Given the description of an element on the screen output the (x, y) to click on. 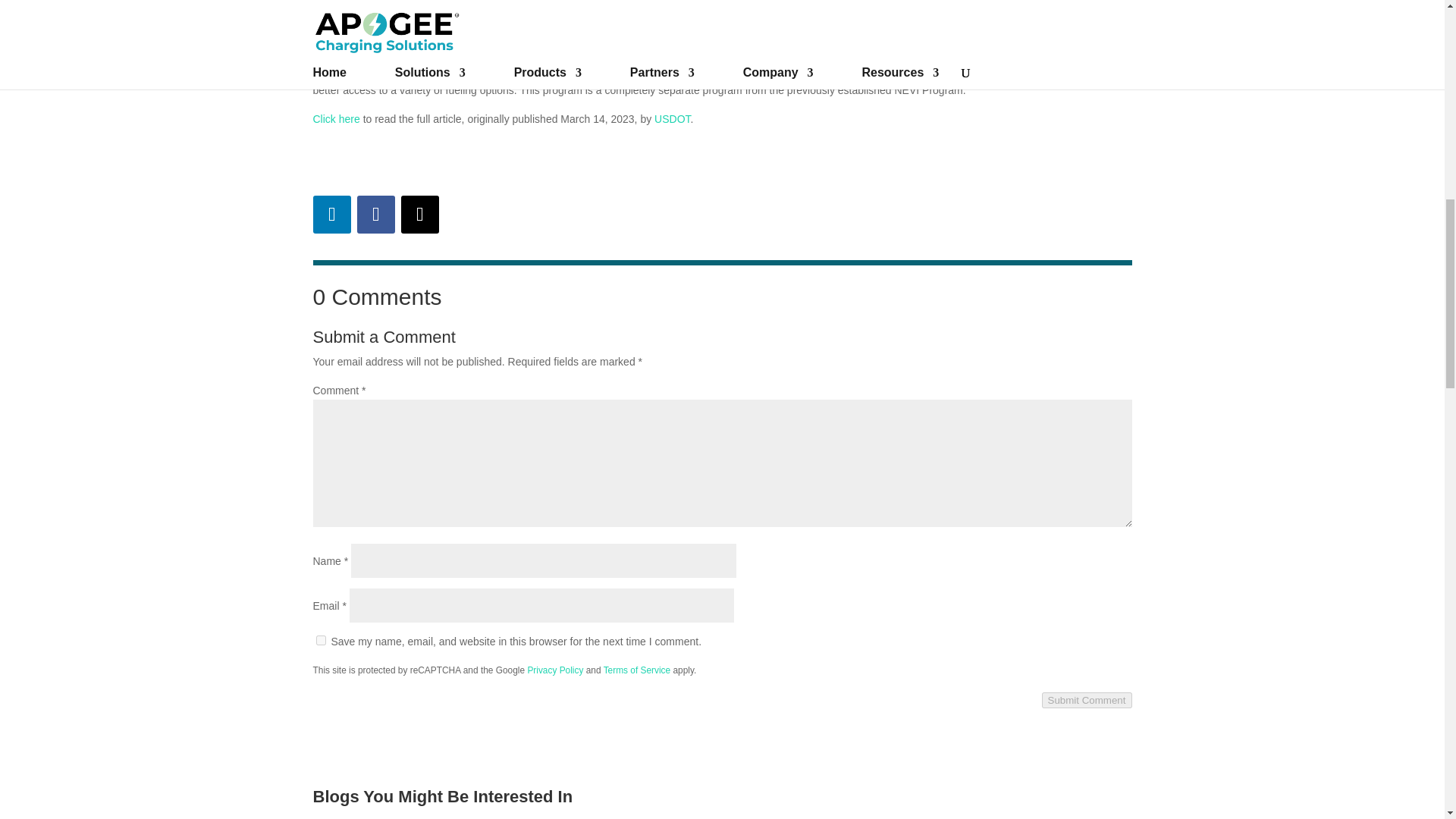
yes (319, 640)
Click here (336, 119)
Follow on LinkedIn (331, 214)
USDOT (671, 119)
Follow on Facebook (375, 214)
neighborhoods and communities (419, 71)
Follow on X (419, 214)
